Given the description of an element on the screen output the (x, y) to click on. 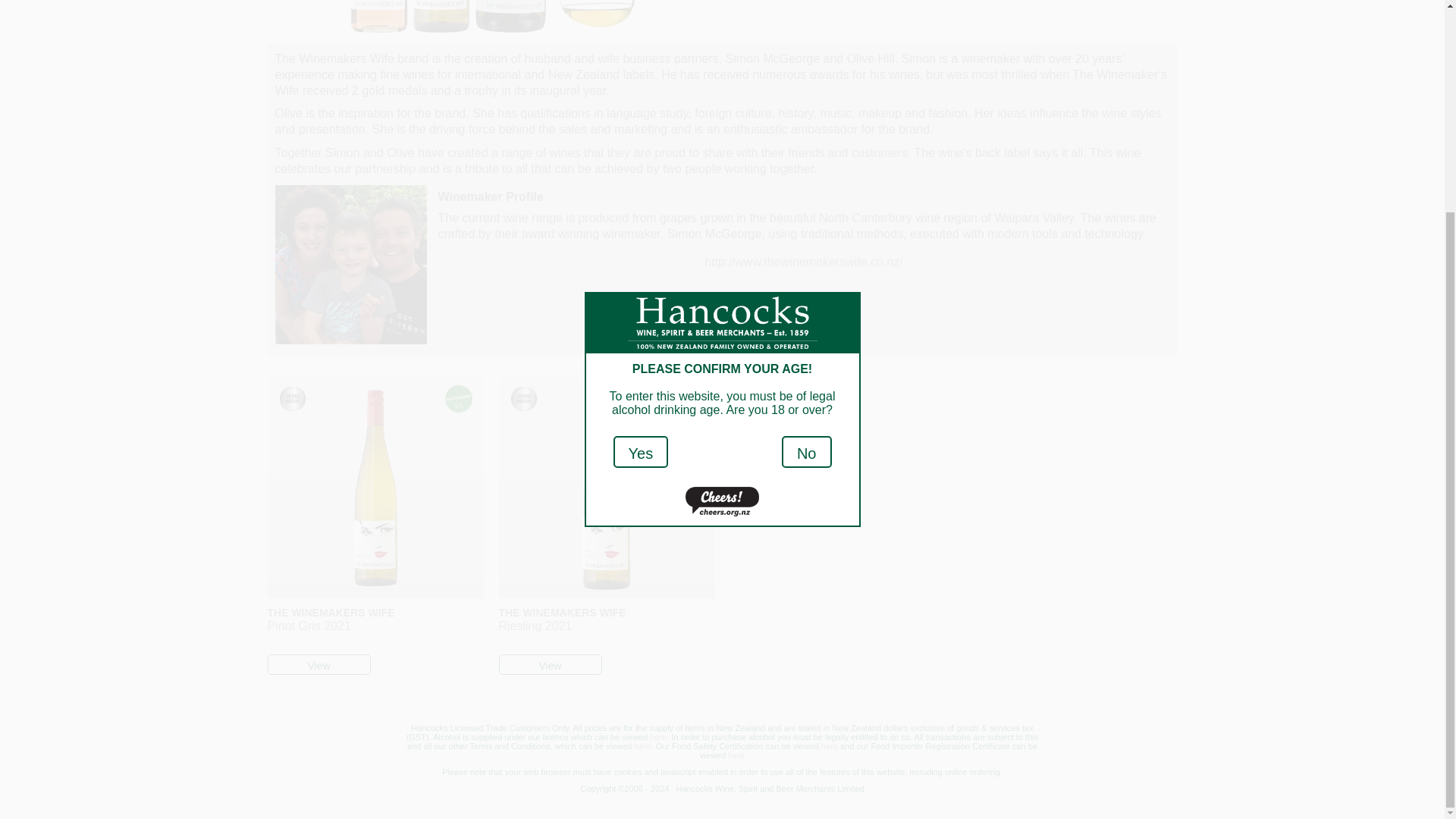
SUSTAINABLE (457, 398)
NZ Int. Wine Show 2019 (523, 399)
SUSTAINABLE (690, 398)
NZ Int Wine Show 2020 (292, 399)
